Given the description of an element on the screen output the (x, y) to click on. 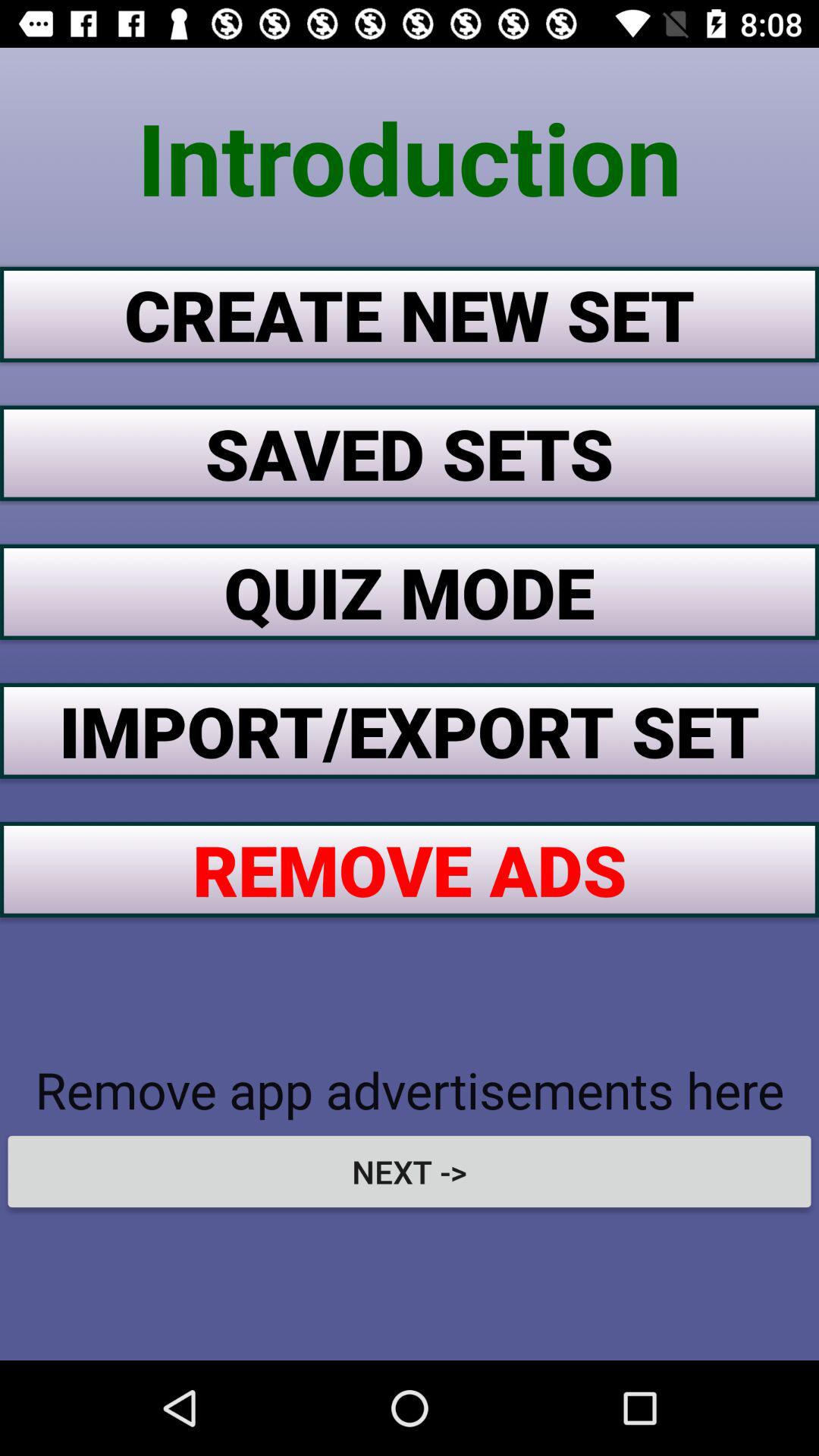
jump to import/export set item (409, 730)
